Given the description of an element on the screen output the (x, y) to click on. 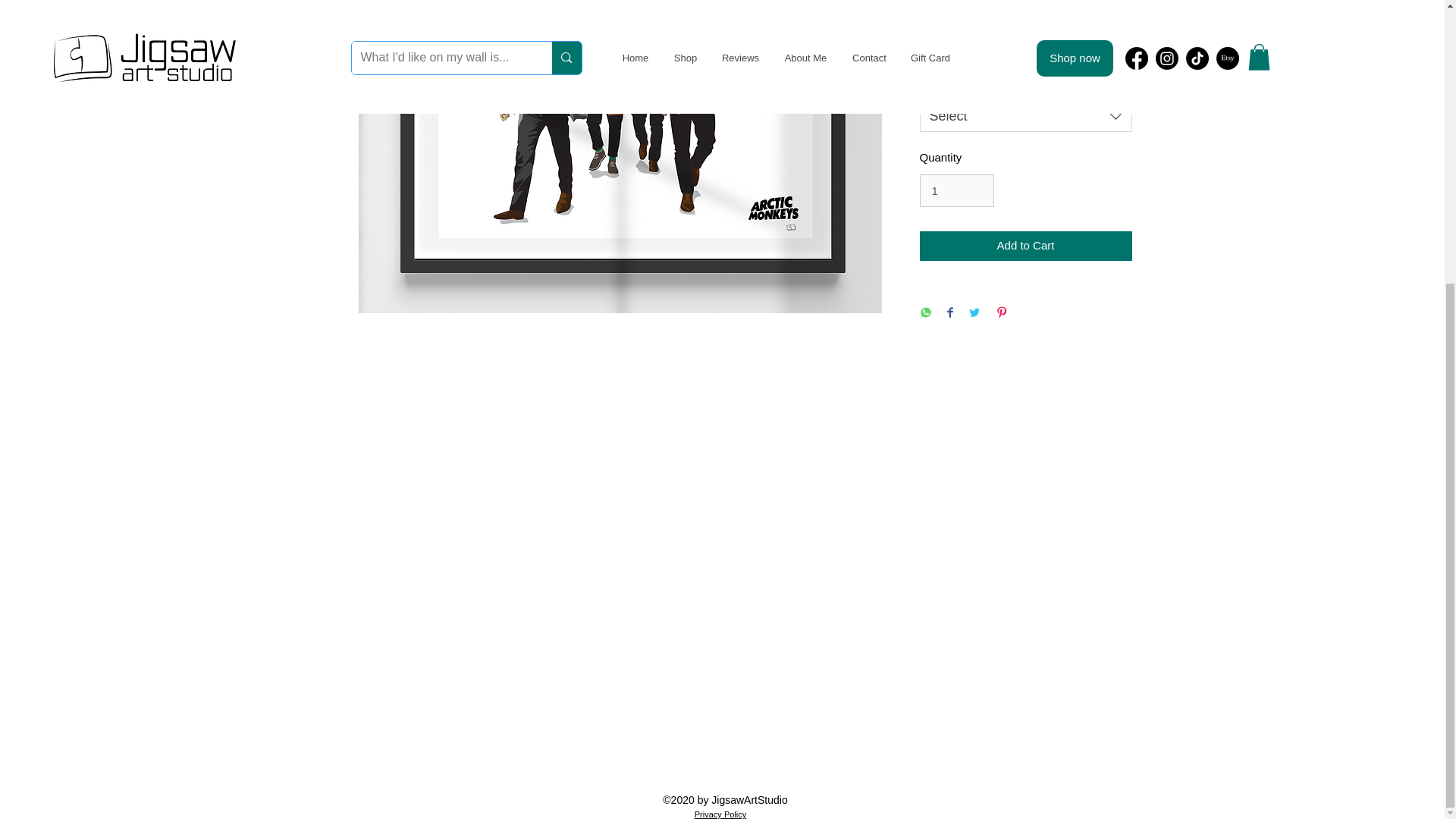
1 (955, 191)
Add to Cart (1024, 245)
Select (1024, 116)
